Given the description of an element on the screen output the (x, y) to click on. 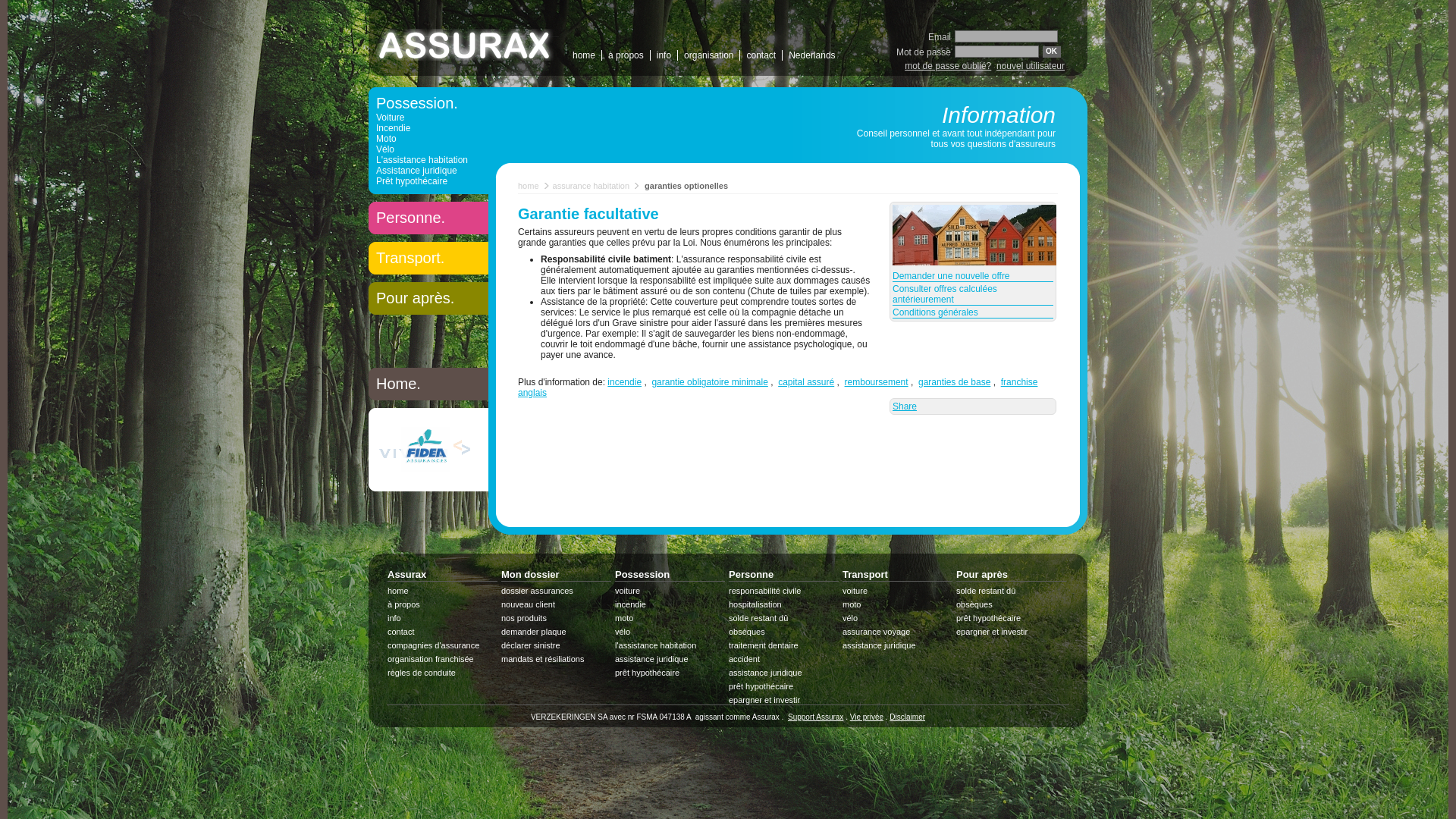
dossier assurances Element type: text (556, 590)
l'assistance habitation Element type: text (669, 644)
info Element type: text (663, 55)
Transport Element type: text (865, 574)
home Element type: text (583, 55)
info Element type: text (442, 617)
Assurax Element type: text (406, 574)
  Element type: text (467, 45)
contact Element type: text (442, 631)
moto Element type: text (669, 617)
remboursement Element type: text (876, 381)
accident Element type: text (783, 658)
home Element type: text (528, 185)
incendie Element type: text (624, 381)
Share Element type: text (904, 406)
nos produits Element type: text (556, 617)
moto Element type: text (897, 603)
assurance voyage Element type: text (897, 631)
voiture Element type: text (897, 590)
Transport. Element type: text (428, 257)
Incendie Element type: text (428, 127)
incendie Element type: text (669, 603)
nouvel utilisateur Element type: text (1030, 65)
franchise anglais Element type: text (777, 387)
assistance juridique Element type: text (897, 644)
assistance juridique Element type: text (669, 658)
Demander une nouvelle offre Element type: text (972, 275)
demander plaque Element type: text (556, 631)
OK Element type: text (1051, 50)
Disclaimer Element type: text (907, 716)
Possession Element type: text (642, 574)
assurance habitation Element type: text (591, 185)
Mon dossier Element type: text (530, 574)
Personne Element type: text (750, 574)
garantie obligatoire minimale Element type: text (709, 381)
home Element type: text (442, 590)
Personne. Element type: text (428, 217)
Voiture Element type: text (428, 117)
Nederlands Element type: text (811, 55)
epargner et investir Element type: text (1011, 631)
epargner et investir Element type: text (783, 699)
hospitalisation Element type: text (783, 603)
Home. Element type: text (428, 383)
contact Element type: text (760, 55)
L'assistance habitation Element type: text (428, 159)
organisation Element type: text (708, 55)
garanties de base Element type: text (954, 381)
traitement dentaire Element type: text (783, 644)
Possession. Element type: text (428, 103)
voiture Element type: text (669, 590)
Support Assurax Element type: text (815, 716)
nouveau client Element type: text (556, 603)
compagnies d'assurance Element type: text (442, 644)
assistance juridique Element type: text (783, 672)
Assistance juridique Element type: text (428, 170)
Moto Element type: text (428, 138)
